Given the description of an element on the screen output the (x, y) to click on. 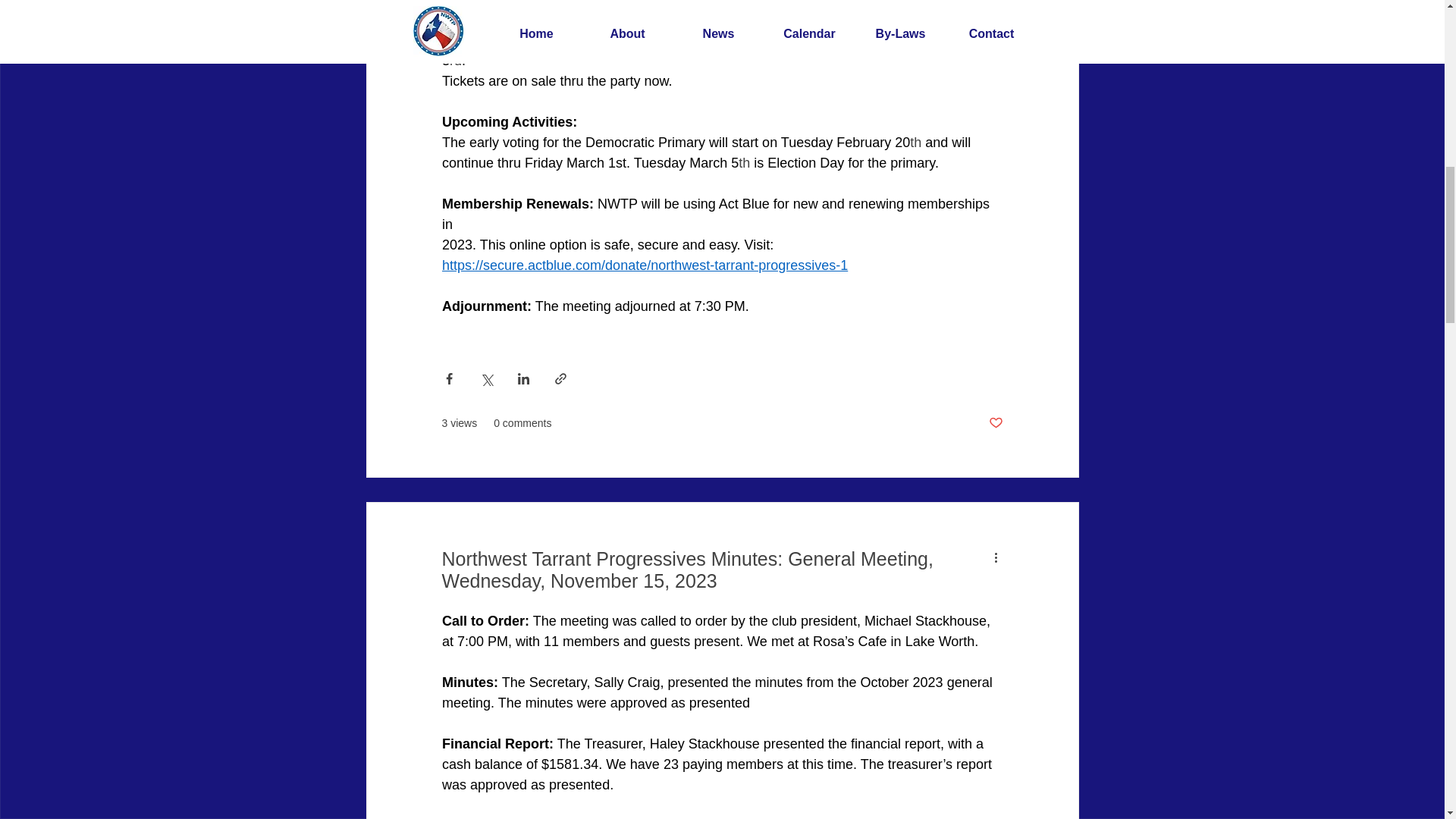
0 comments (522, 423)
Post not marked as liked (995, 423)
